Given the description of an element on the screen output the (x, y) to click on. 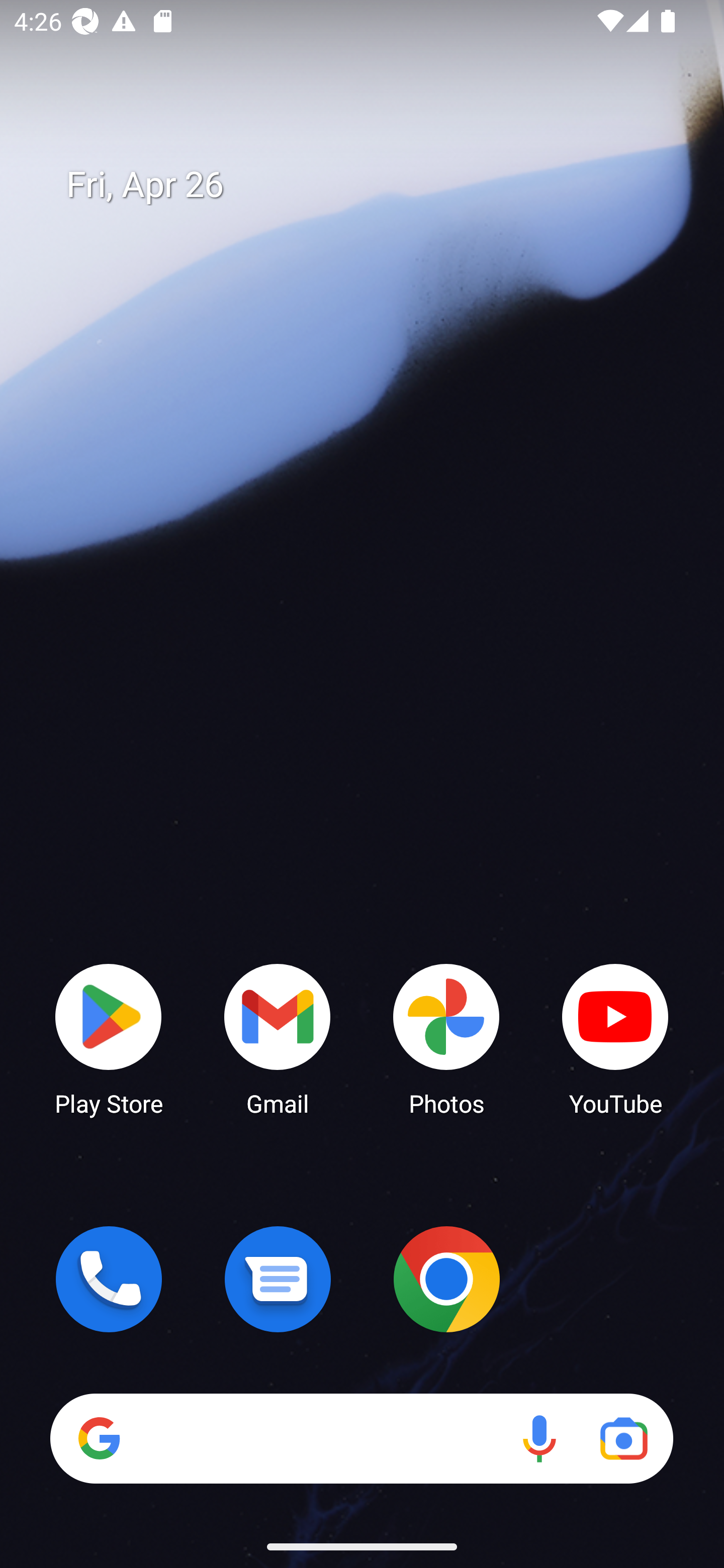
Fri, Apr 26 (375, 184)
Play Store (108, 1038)
Gmail (277, 1038)
Photos (445, 1038)
YouTube (615, 1038)
Phone (108, 1279)
Messages (277, 1279)
Chrome (446, 1279)
Search Voice search Google Lens (361, 1438)
Voice search (539, 1438)
Google Lens (623, 1438)
